Given the description of an element on the screen output the (x, y) to click on. 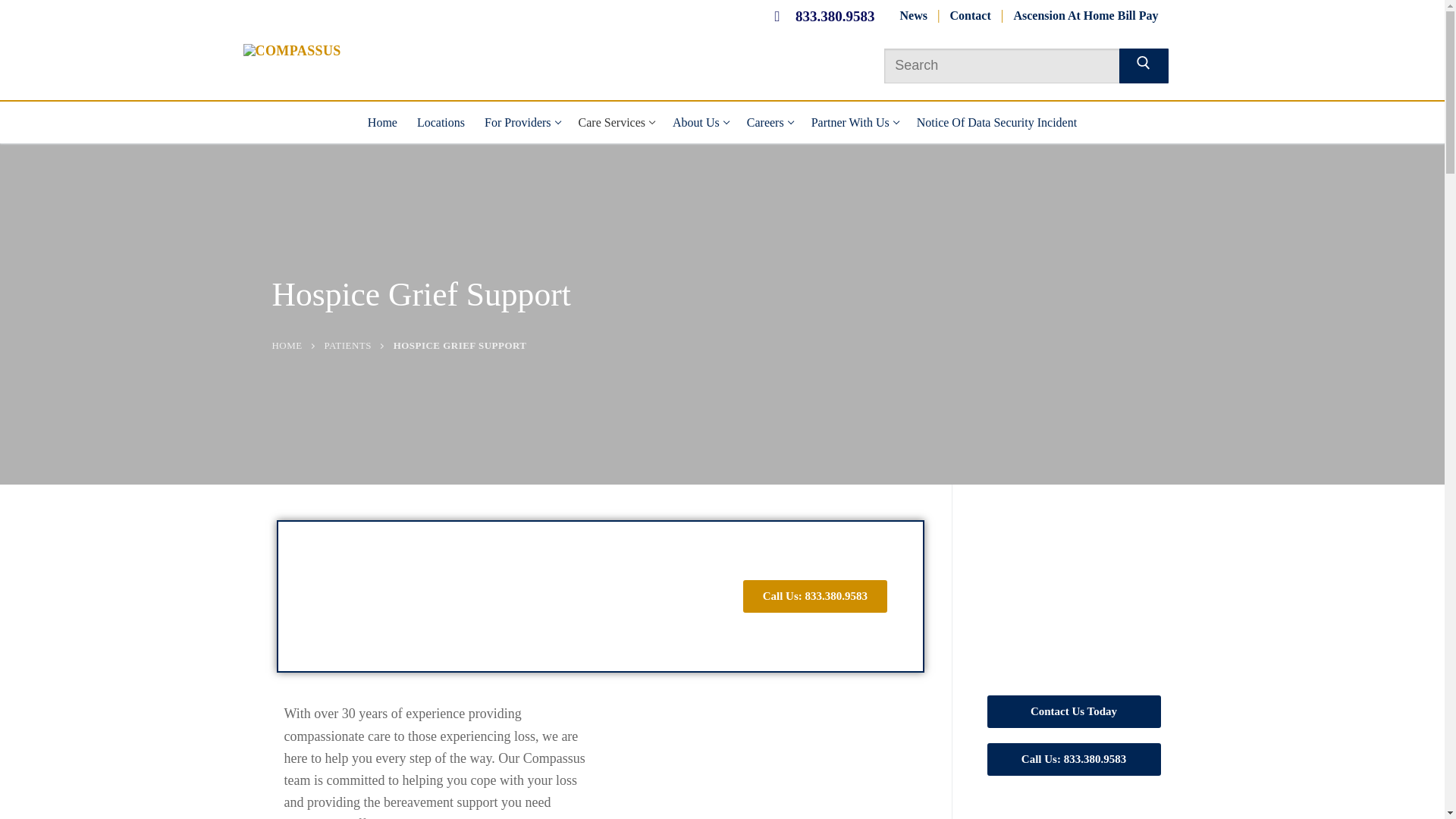
Home (382, 122)
833.380.9583 (818, 15)
News (913, 15)
Contact (615, 122)
Search for: (521, 122)
Ascension At Home Bill Pay (970, 15)
Locations (1016, 65)
